Given the description of an element on the screen output the (x, y) to click on. 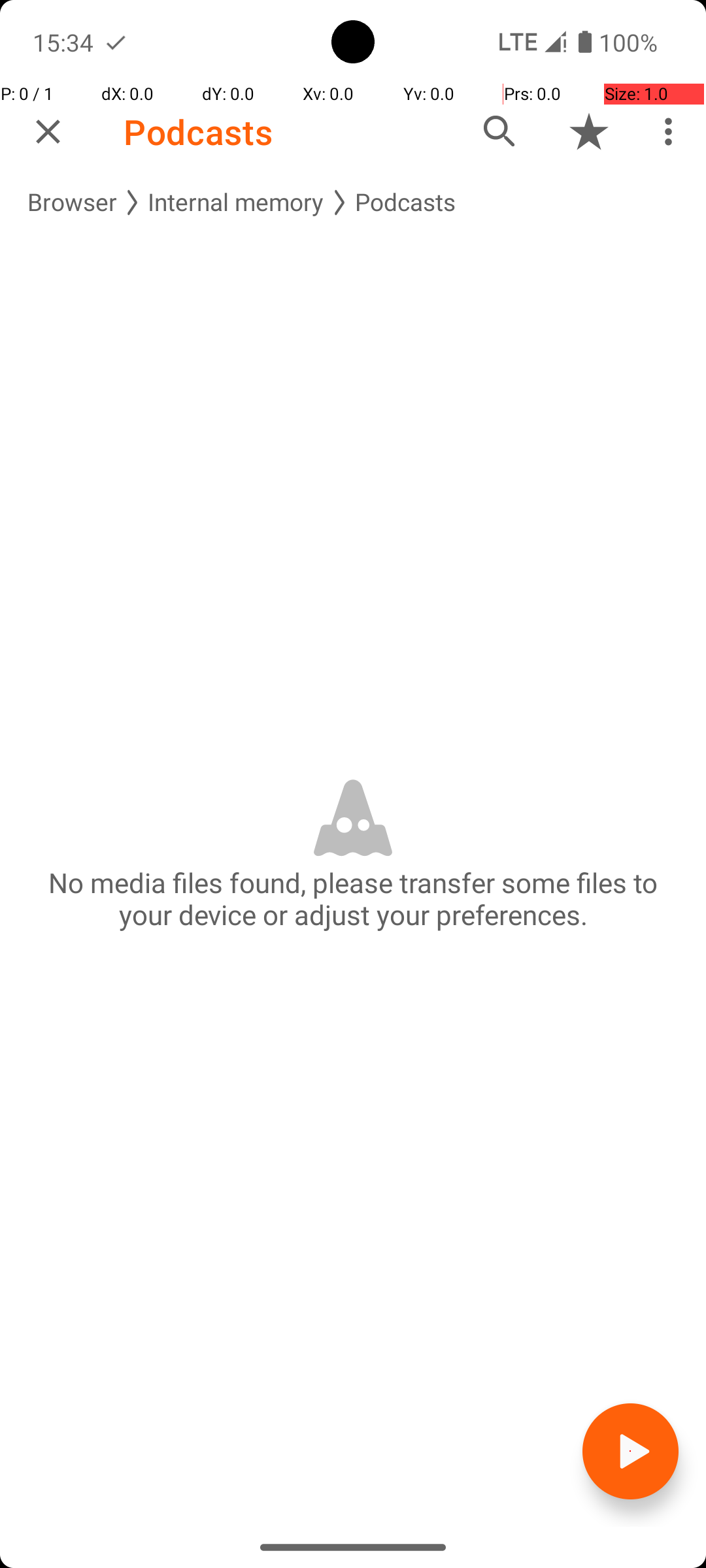
Browser Element type: android.widget.TextView (72, 202)
